Given the description of an element on the screen output the (x, y) to click on. 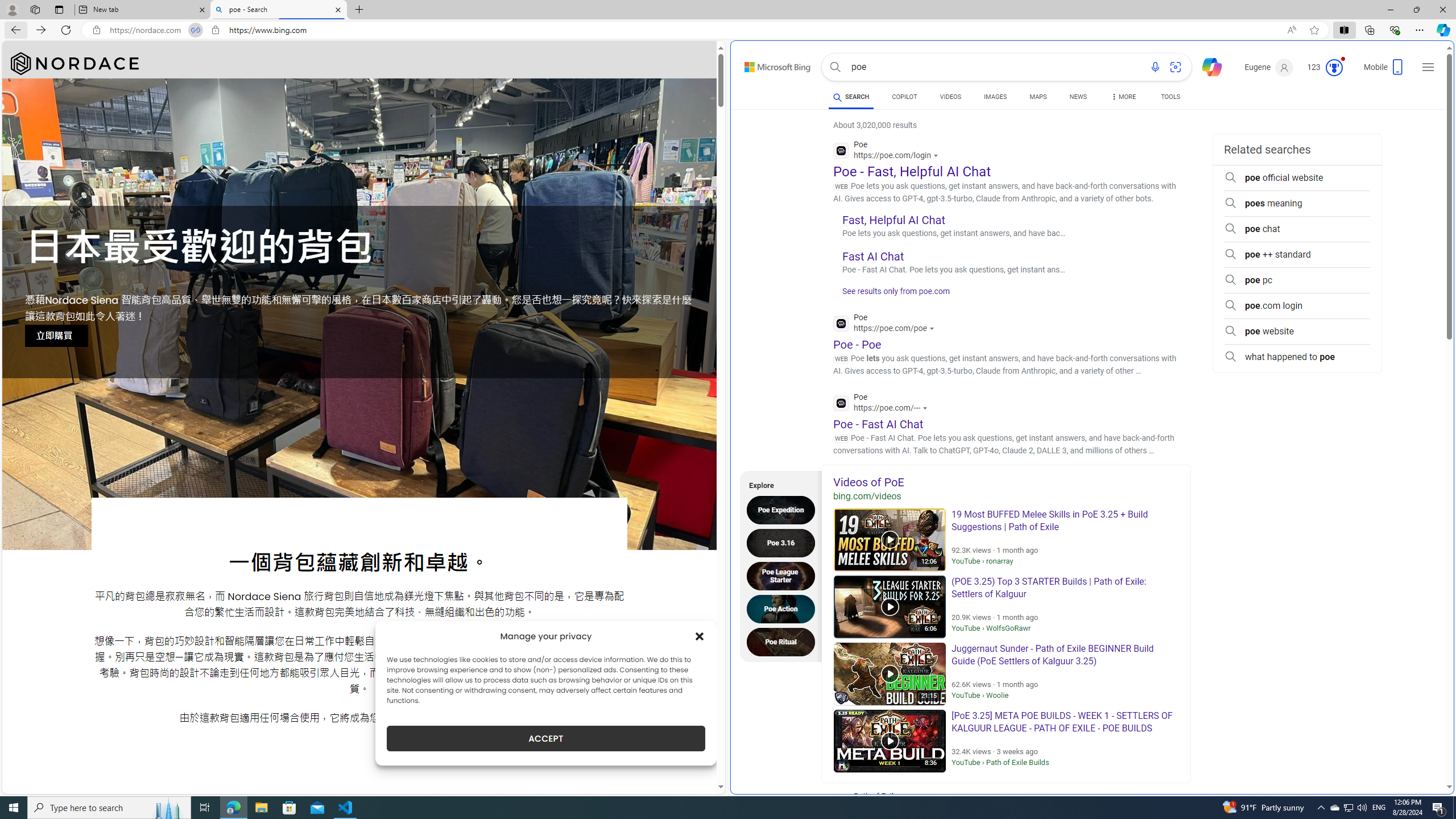
Path of Exile (912, 803)
Class: medal-circled (1333, 67)
Search button (835, 66)
TOOLS (1171, 96)
Mobile (1384, 70)
Actions for this site (926, 408)
Eugene (1269, 67)
Poe - Poe (856, 344)
Poe League Starter (783, 575)
MAPS (1038, 96)
